Given the description of an element on the screen output the (x, y) to click on. 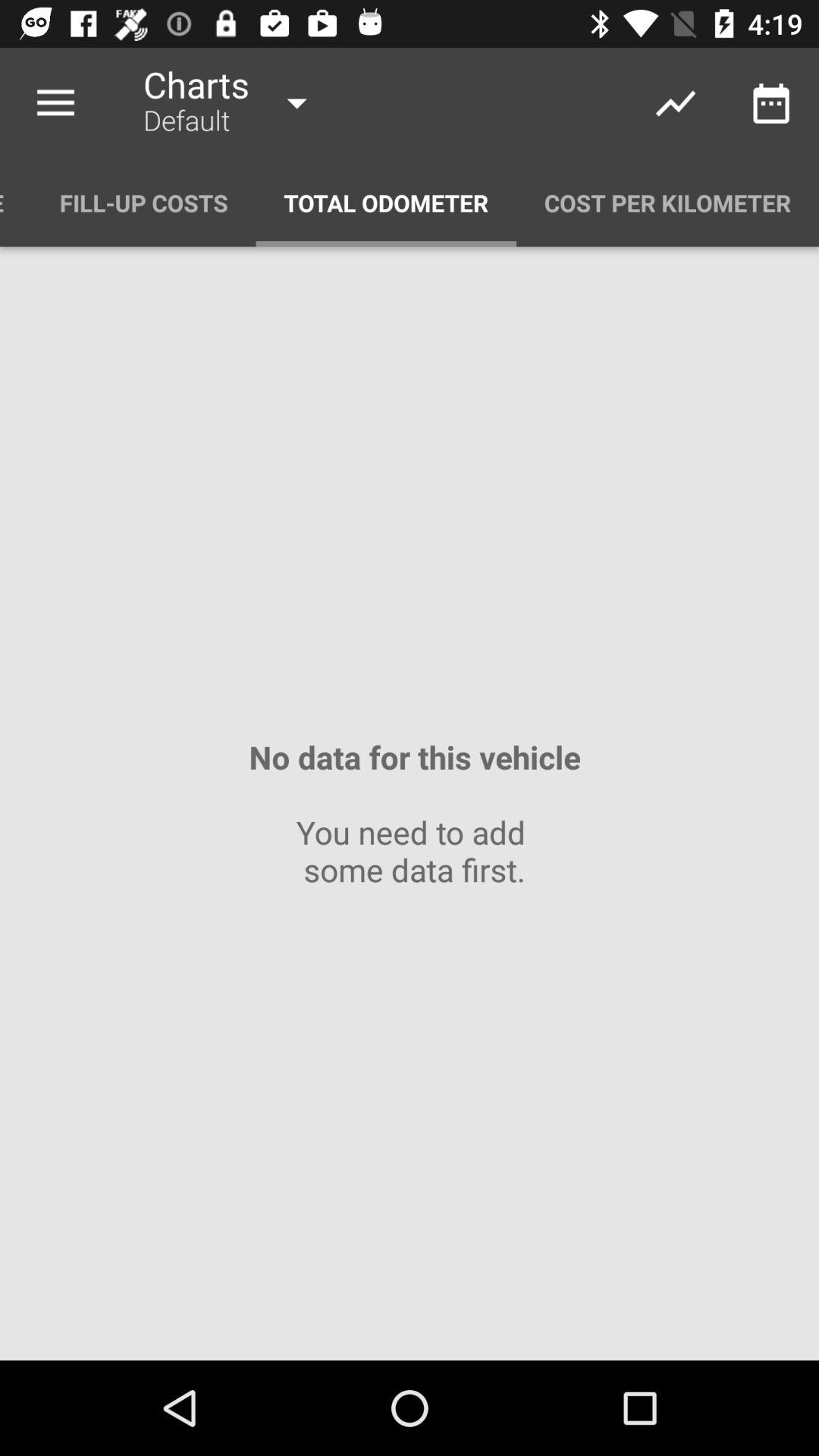
flip until total odometer (385, 202)
